Given the description of an element on the screen output the (x, y) to click on. 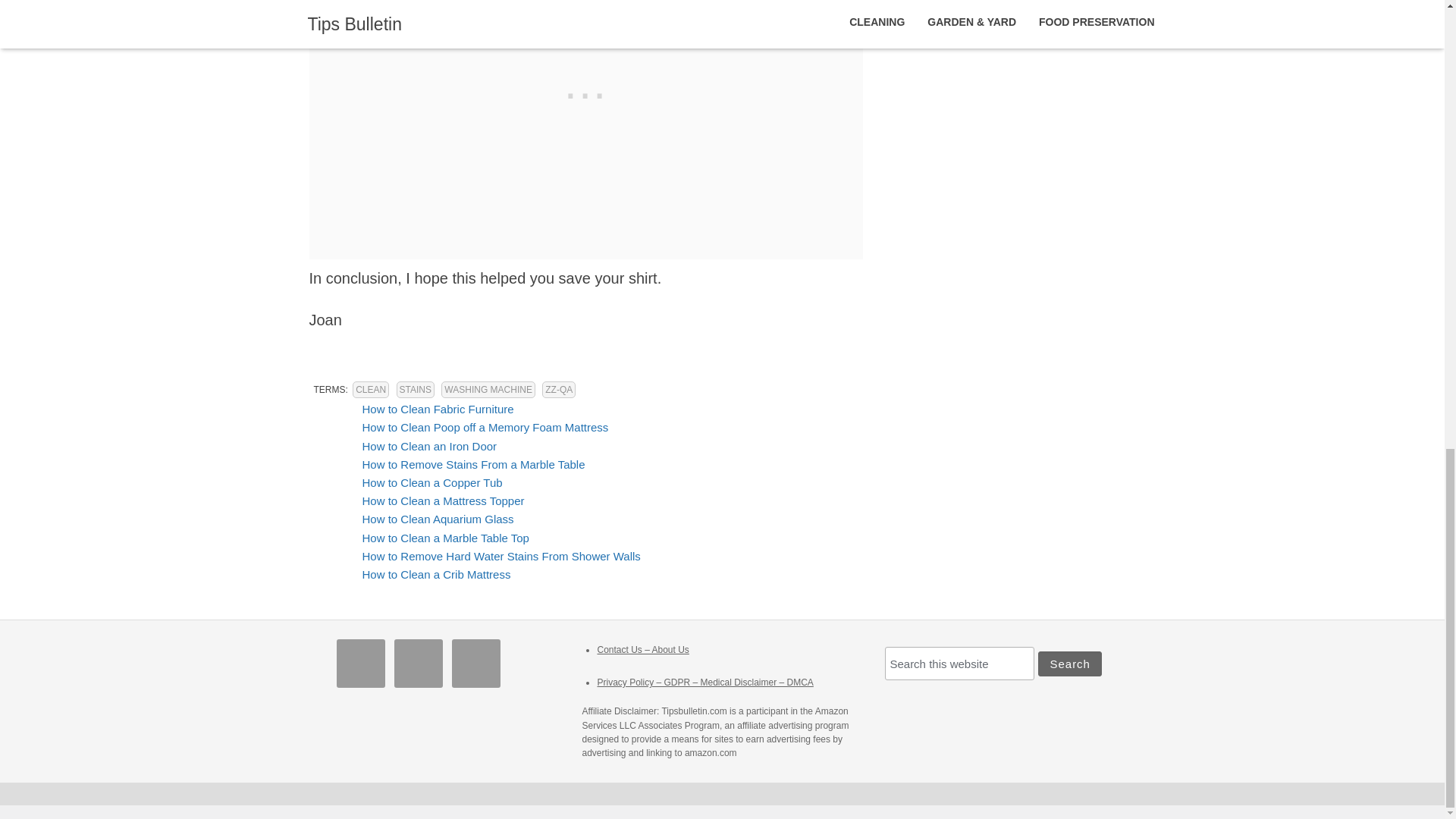
How to Remove Stains From a Marble Table (473, 463)
WASHING MACHINE (488, 389)
How to Clean Fabric Furniture (437, 408)
How to Clean Poop off a Memory Foam Mattress (485, 427)
CLEAN (370, 389)
How to Clean a Crib Mattress (436, 574)
How to Remove Hard Water Stains From Shower Walls (501, 555)
STAINS (414, 389)
How to Clean Aquarium Glass (437, 518)
How to Clean a Mattress Topper (443, 500)
How to Clean an Iron Door (429, 445)
How to Clean a Copper Tub (432, 481)
Search (1070, 663)
How to Clean a Marble Table Top (445, 536)
ZZ-QA (558, 389)
